Given the description of an element on the screen output the (x, y) to click on. 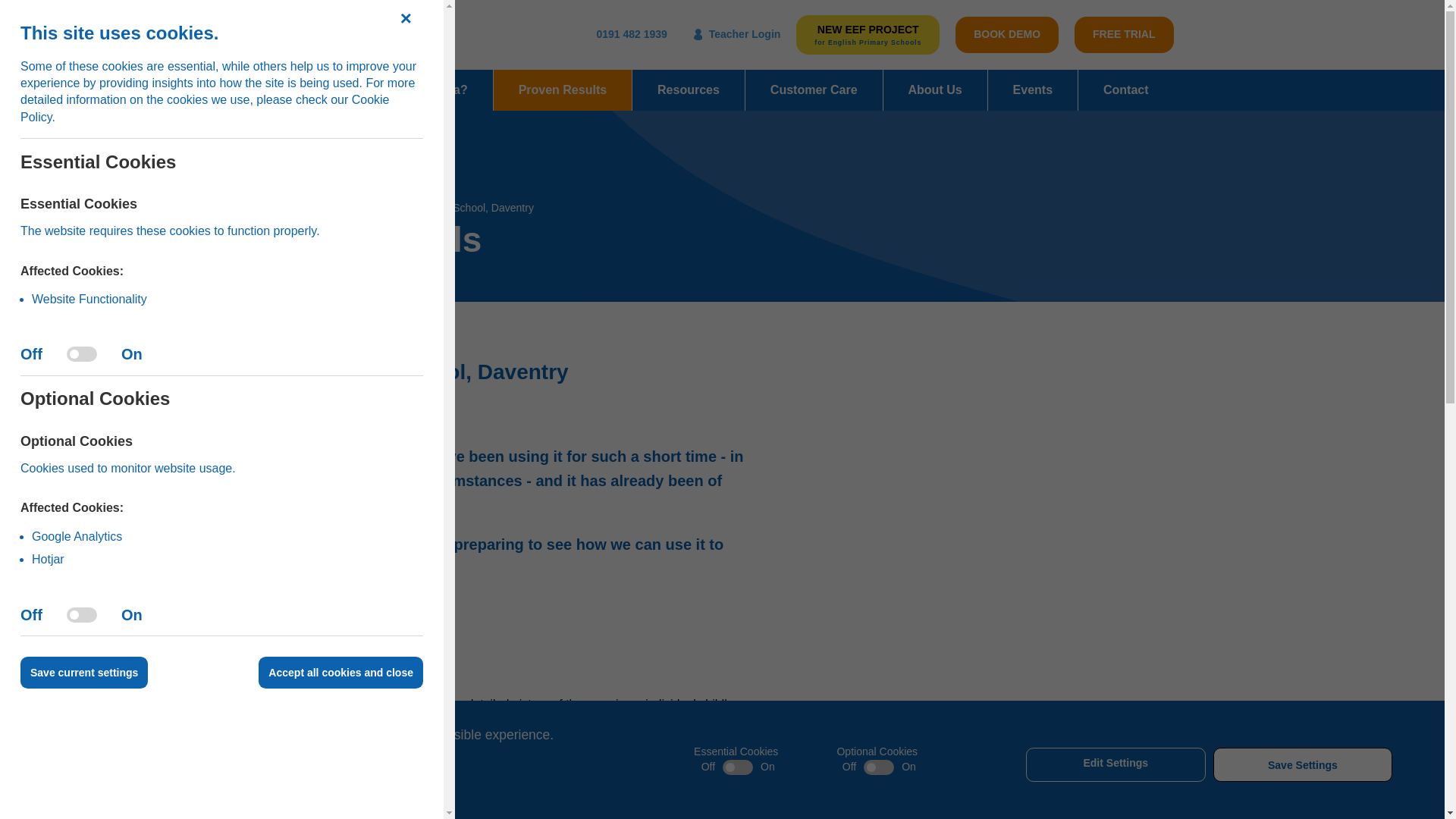
Book Demo today (1006, 34)
Call us today (630, 34)
BOOK DEMO (1006, 34)
Home (284, 207)
Testimonials (346, 207)
About Us (935, 89)
Return to the LexiaUK homepage (330, 34)
Resources (687, 89)
Products (322, 89)
0191 482 1939 (630, 34)
FREE TRIAL (1123, 34)
EEF Proven (867, 34)
Sign up to your Free Trial now (1123, 34)
Teacher Login (737, 34)
Customer Care (813, 89)
